Given the description of an element on the screen output the (x, y) to click on. 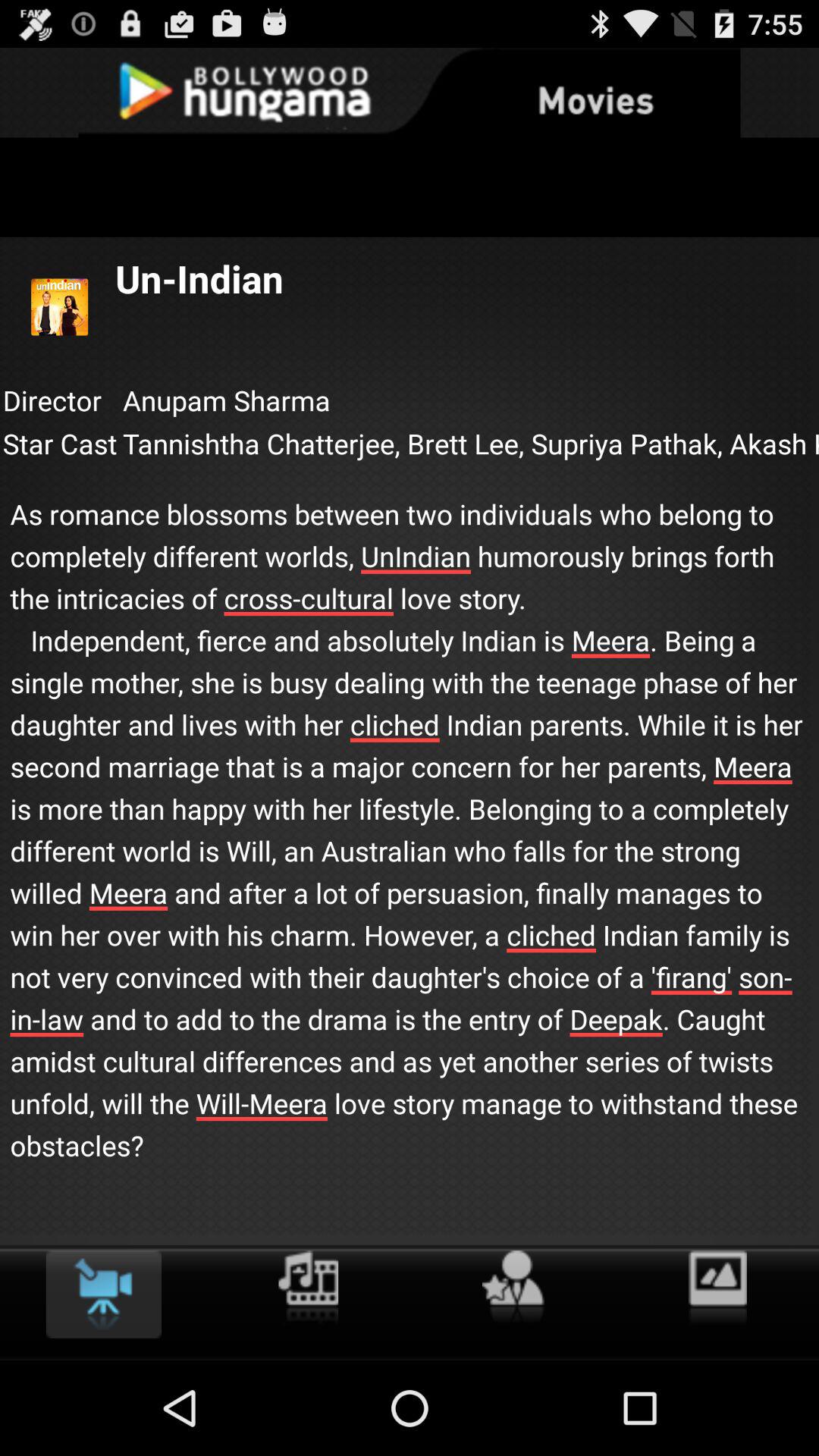
choose item below as romance blossoms icon (512, 1287)
